Given the description of an element on the screen output the (x, y) to click on. 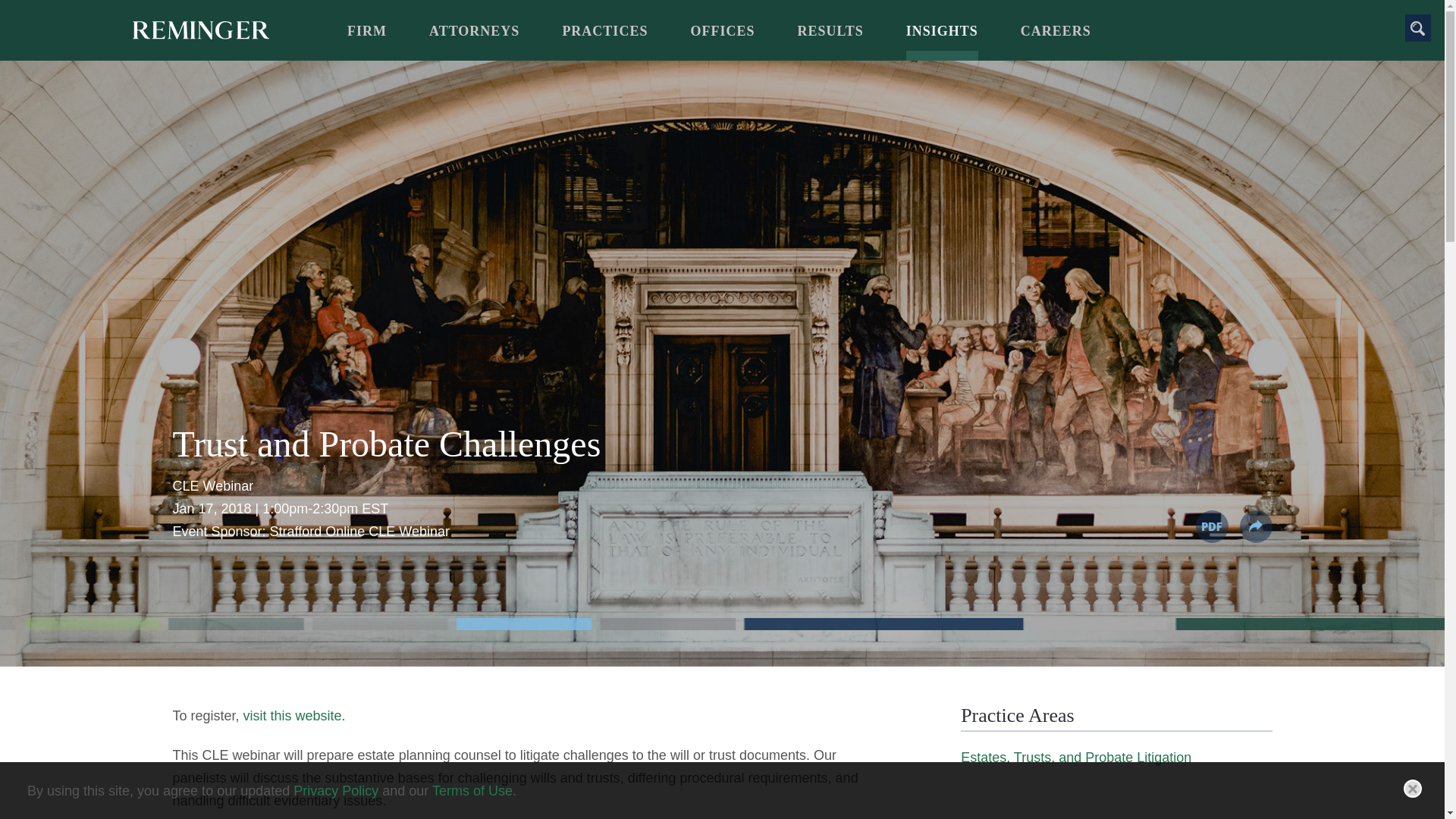
Main Content (669, 19)
OFFICES (722, 37)
INSIGHTS (941, 37)
ATTORNEYS (474, 37)
PRACTICES (604, 37)
Share (1255, 526)
Main Menu (676, 19)
visit this website. (294, 715)
Estates, Trusts, and Probate Litigation (1075, 757)
RESULTS (829, 37)
Menu (676, 19)
